Given the description of an element on the screen output the (x, y) to click on. 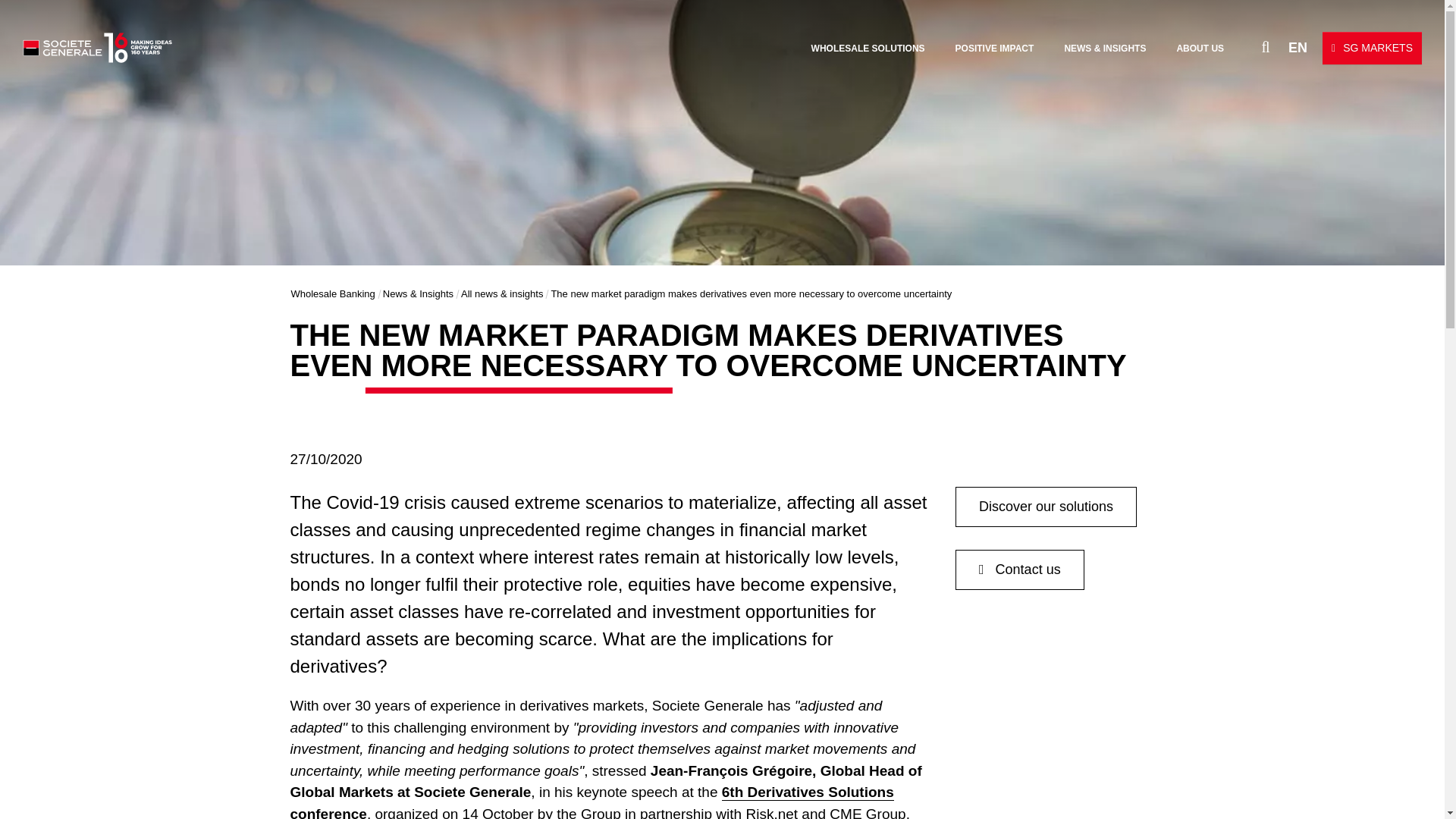
Search with Quantum (1238, 45)
Client access to : SG MARKETS  (1372, 47)
